Given the description of an element on the screen output the (x, y) to click on. 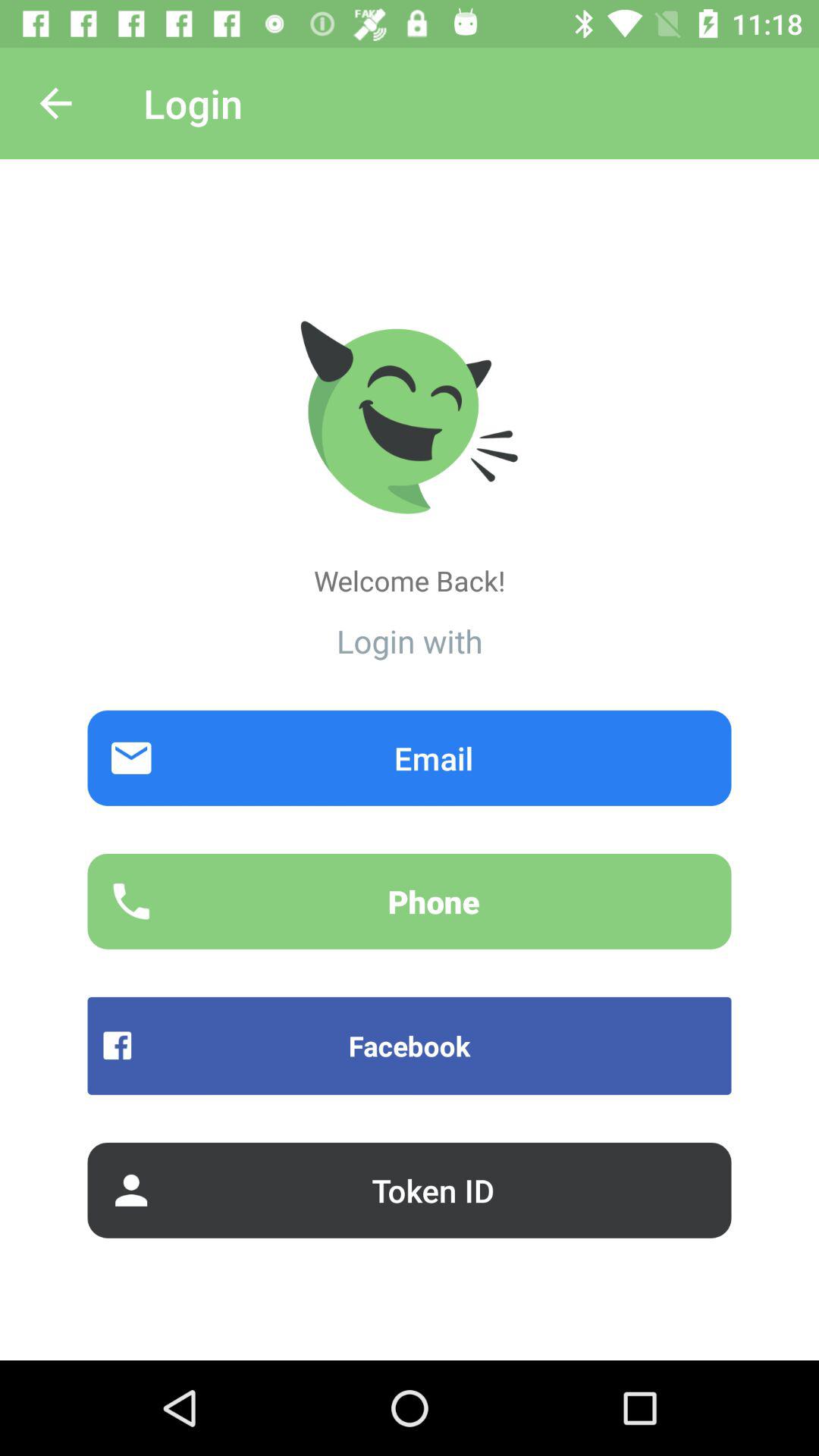
launch email item (409, 757)
